Given the description of an element on the screen output the (x, y) to click on. 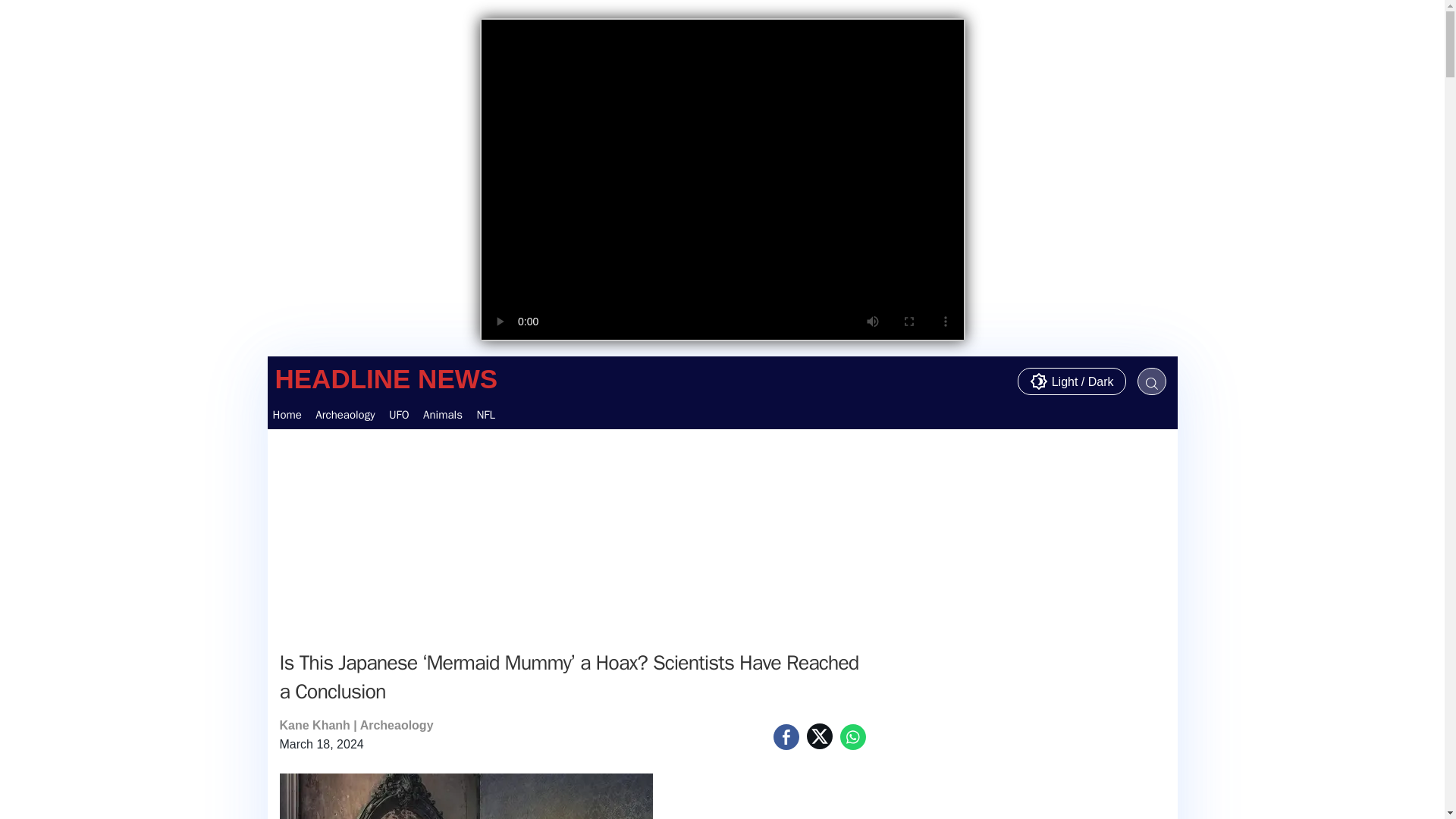
Home (285, 414)
UFO (399, 414)
Share  twitter (819, 736)
HEADLINE NEWS (386, 379)
Archeaology (396, 725)
WhatsApp (721, 414)
Animals (853, 736)
Archeaology (442, 414)
Advertisement (345, 414)
Share  facebook (571, 535)
